Given the description of an element on the screen output the (x, y) to click on. 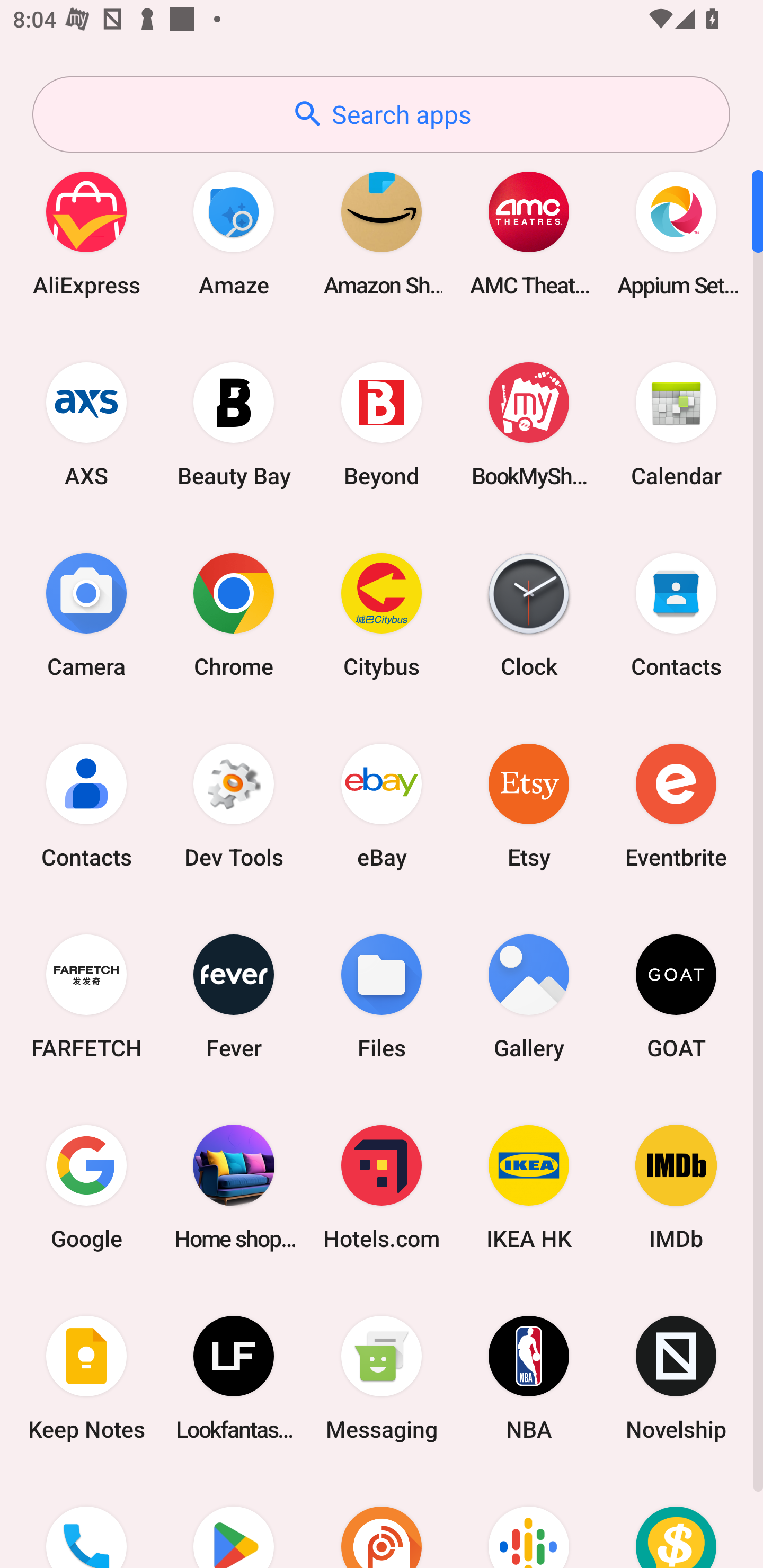
  Search apps (381, 114)
AliExpress (86, 233)
Amaze (233, 233)
Amazon Shopping (381, 233)
AMC Theatres (528, 233)
Appium Settings (676, 233)
AXS (86, 424)
Beauty Bay (233, 424)
Beyond (381, 424)
BookMyShow (528, 424)
Calendar (676, 424)
Camera (86, 614)
Chrome (233, 614)
Citybus (381, 614)
Clock (528, 614)
Contacts (676, 614)
Contacts (86, 805)
Dev Tools (233, 805)
eBay (381, 805)
Etsy (528, 805)
Eventbrite (676, 805)
FARFETCH (86, 996)
Fever (233, 996)
Files (381, 996)
Gallery (528, 996)
GOAT (676, 996)
Google (86, 1186)
Home shopping (233, 1186)
Hotels.com (381, 1186)
IKEA HK (528, 1186)
IMDb (676, 1186)
Keep Notes (86, 1377)
Lookfantastic (233, 1377)
Messaging (381, 1377)
NBA (528, 1377)
Novelship (676, 1377)
Phone (86, 1520)
Play Store (233, 1520)
Podcast Addict (381, 1520)
Podcasts (528, 1520)
Price (676, 1520)
